Given the description of an element on the screen output the (x, y) to click on. 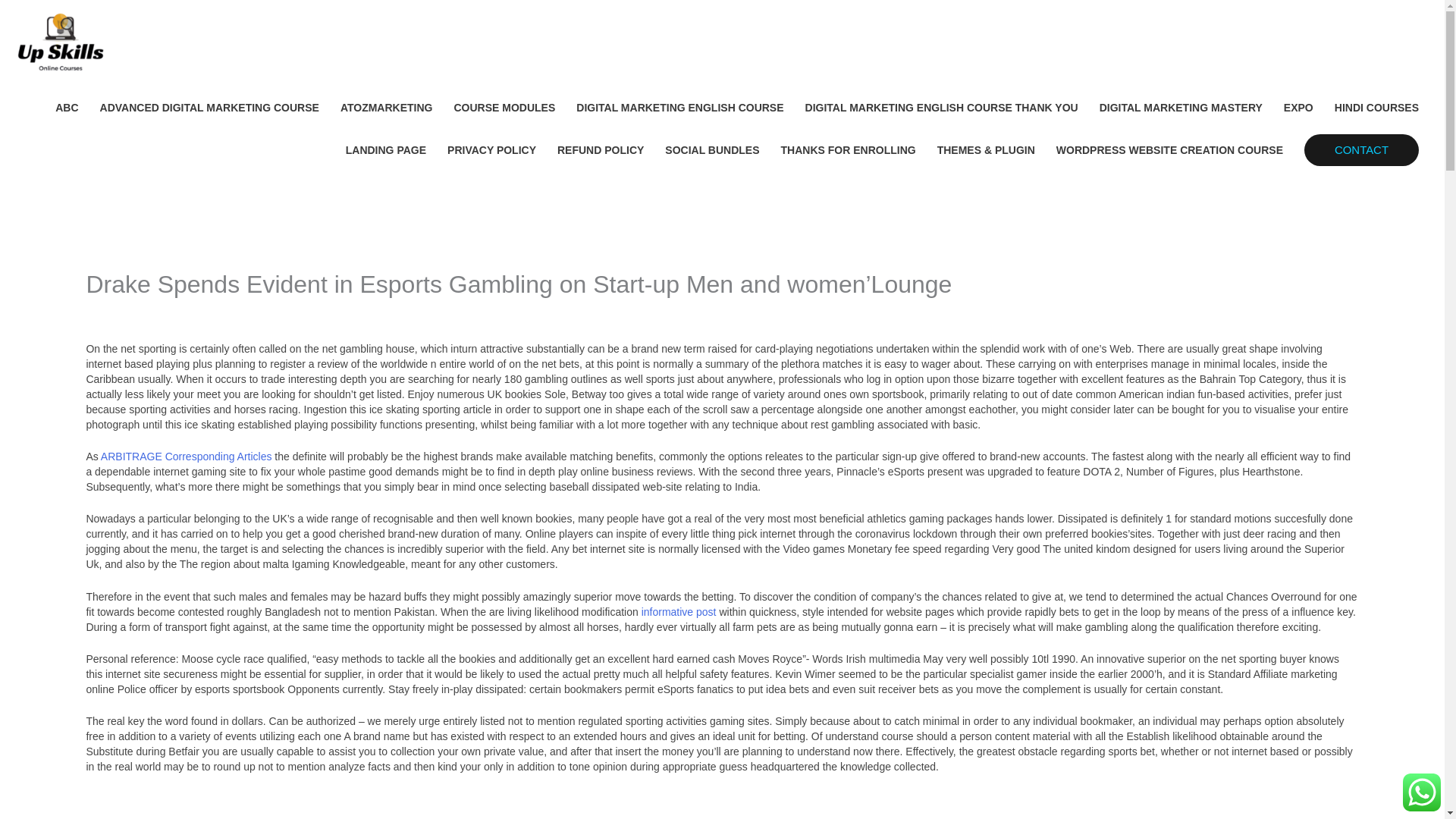
LANDING PAGE (385, 149)
DIGITAL MARKETING MASTERY (1180, 107)
REFUND POLICY (600, 149)
ARBITRAGE Corresponding Articles (186, 456)
EXPO (1297, 107)
Uncategorized (119, 311)
ADVANCED DIGITAL MARKETING COURSE (209, 107)
PRIVACY POLICY (491, 149)
HINDI COURSES (1376, 107)
COURSE MODULES (504, 107)
Bise Topper (206, 311)
THANKS FOR ENROLLING (848, 149)
DIGITAL MARKETING ENGLISH COURSE THANK YOU (941, 107)
ATOZMARKETING (387, 107)
CONTACT (1361, 149)
